Given the description of an element on the screen output the (x, y) to click on. 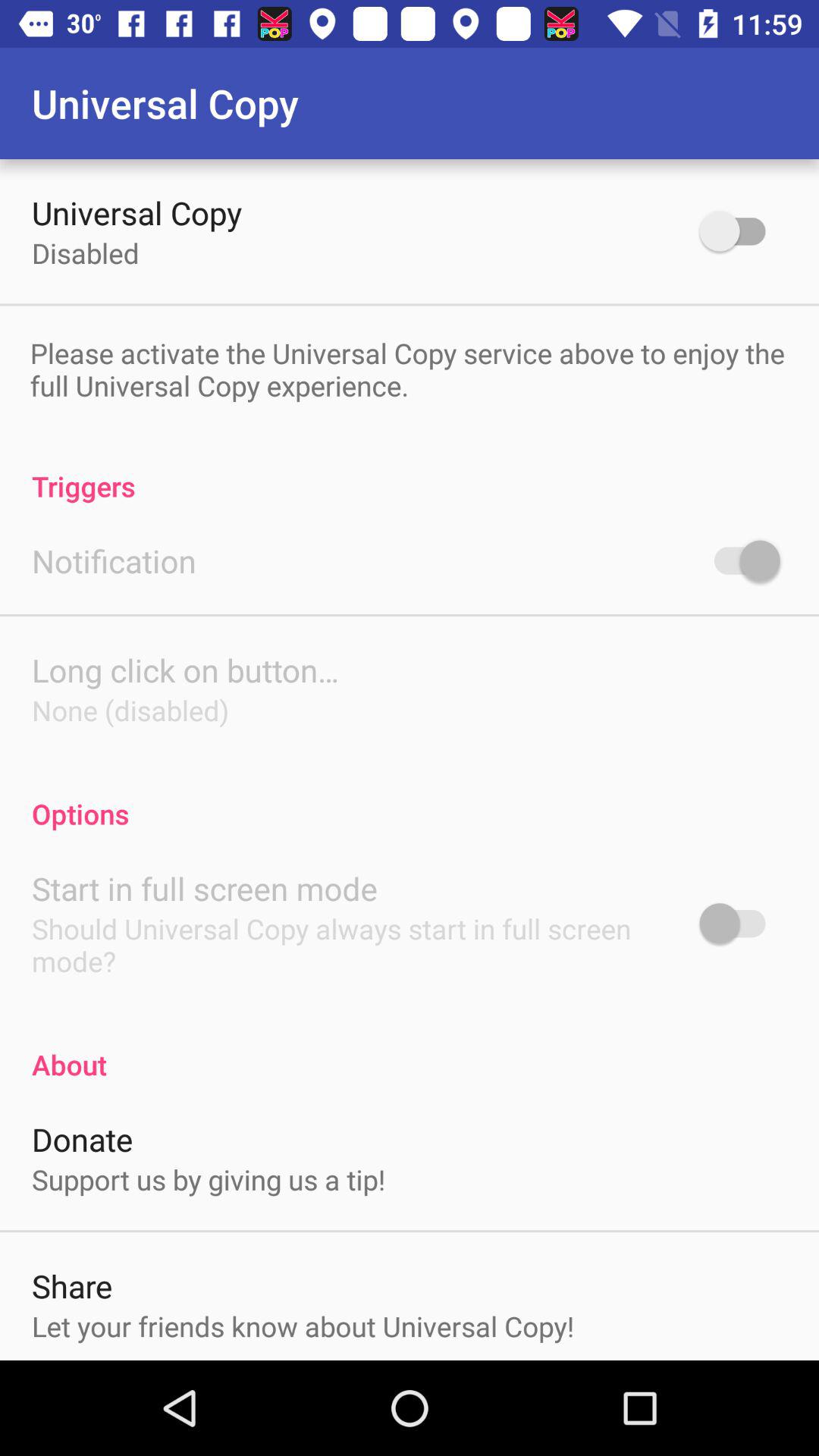
turn off the item above start in full (409, 797)
